Given the description of an element on the screen output the (x, y) to click on. 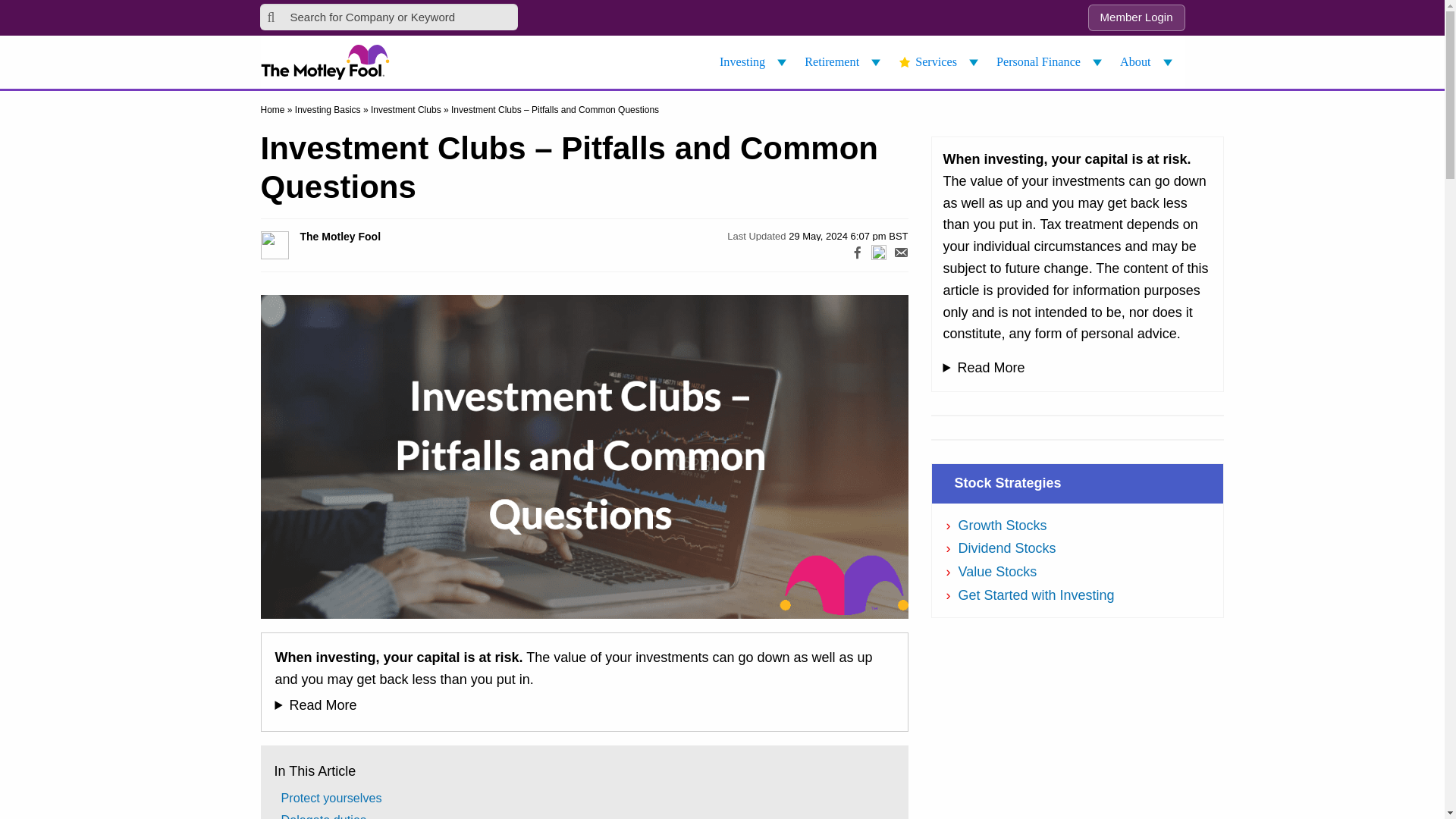
Member Login (1136, 17)
Investing (755, 62)
Retirement (844, 62)
Services (941, 62)
